Given the description of an element on the screen output the (x, y) to click on. 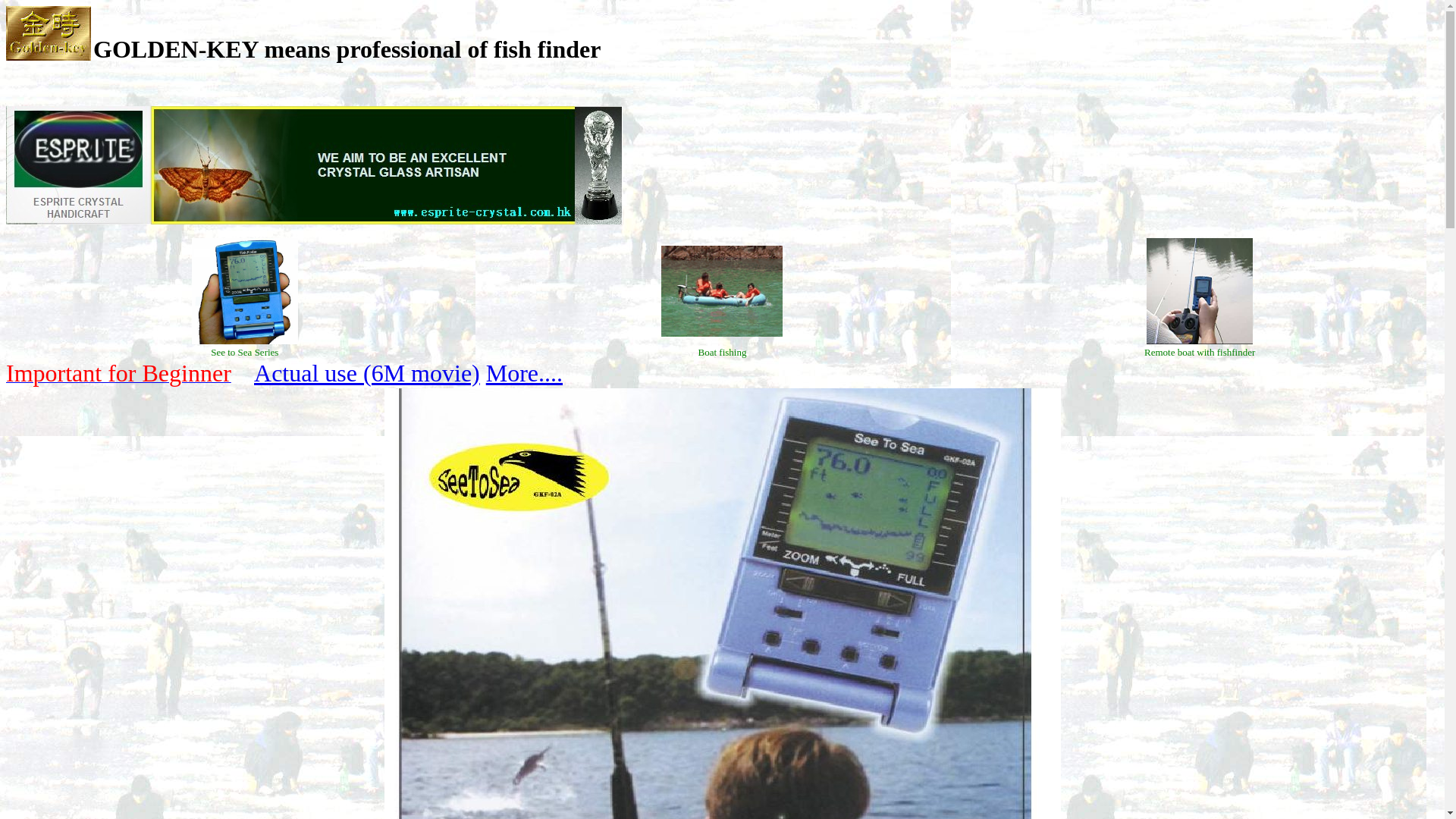
More.... (524, 372)
Important for Beginner (118, 377)
